Given the description of an element on the screen output the (x, y) to click on. 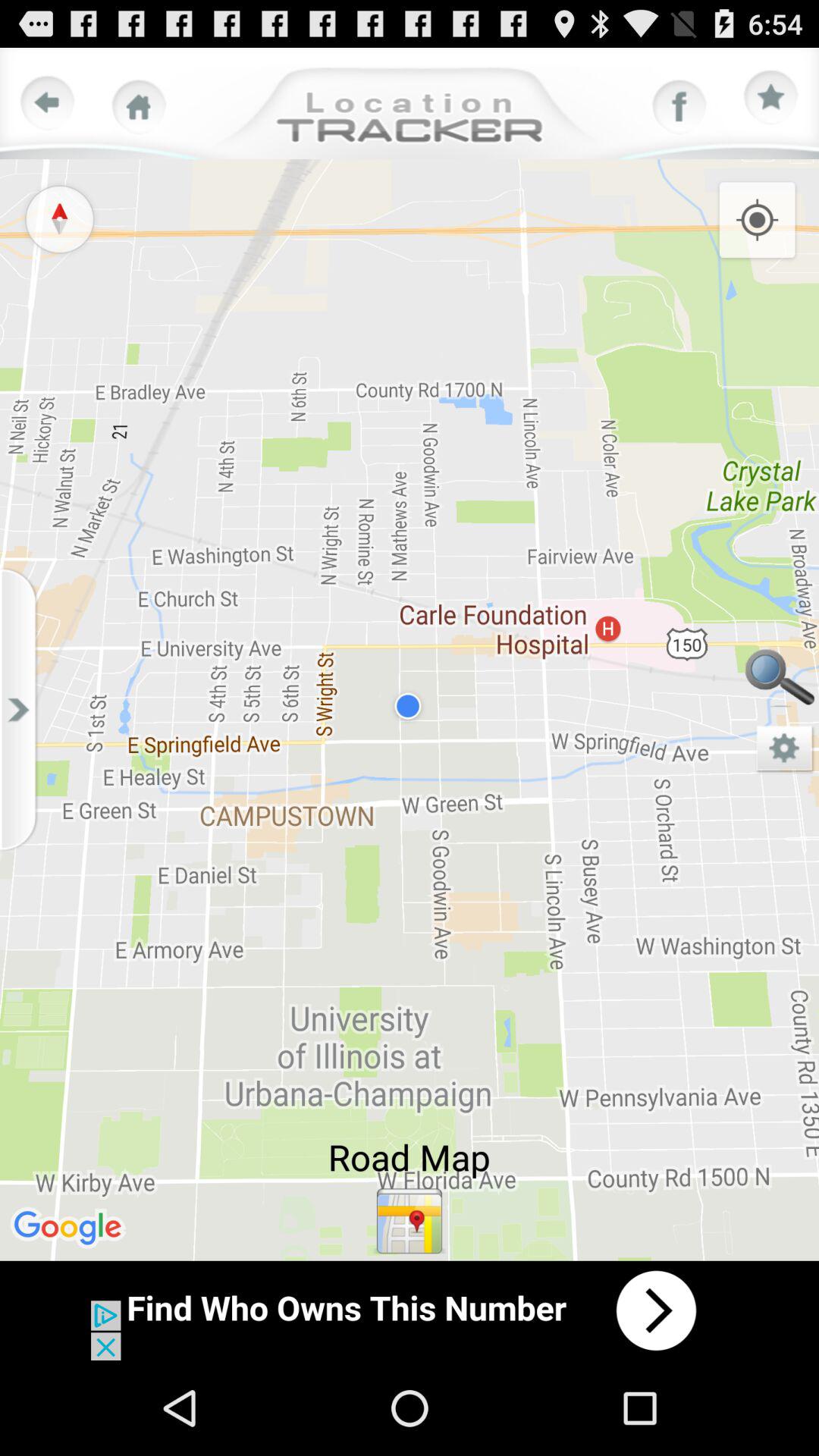
go to previous (47, 103)
